Given the description of an element on the screen output the (x, y) to click on. 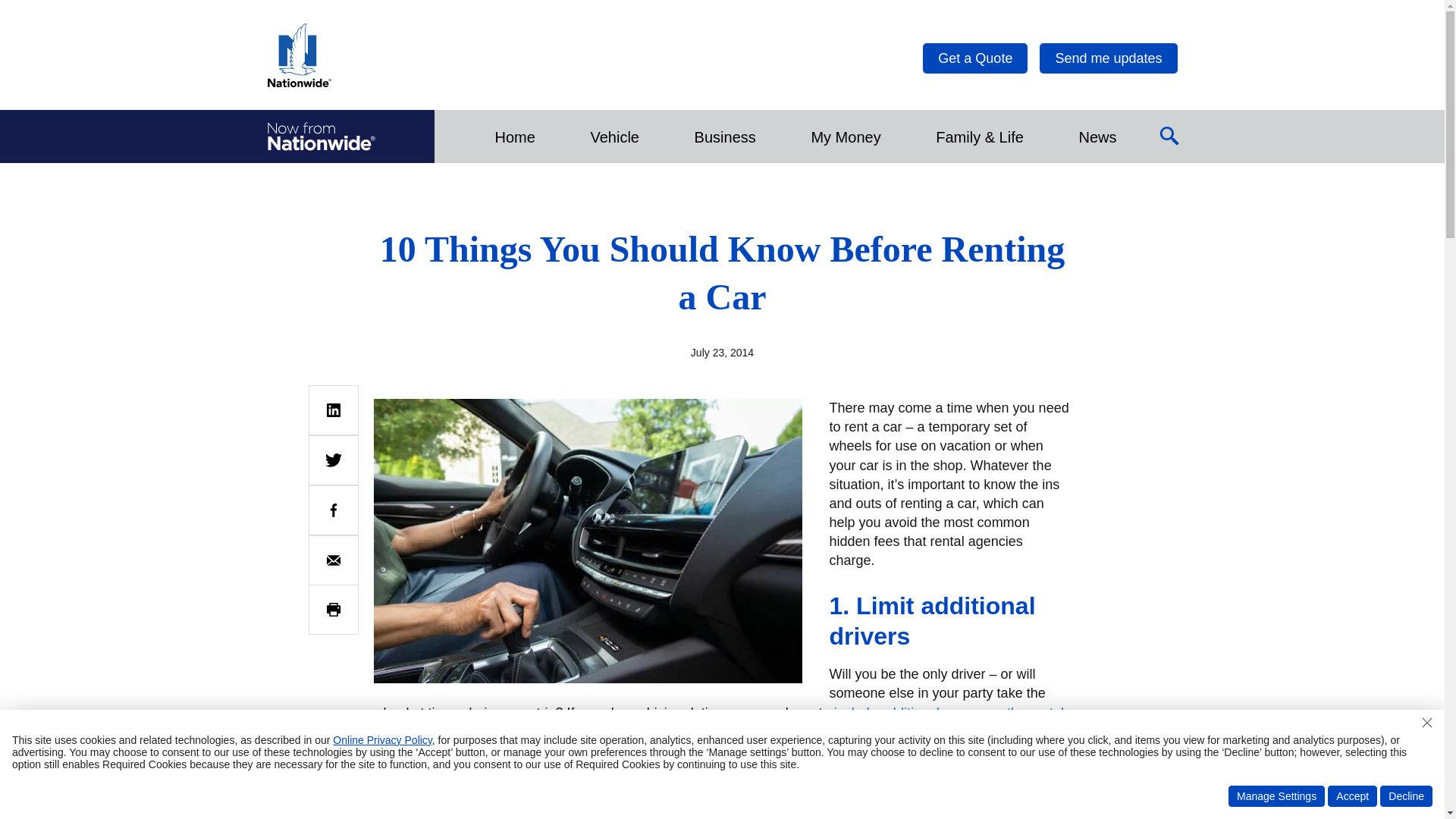
My Money (844, 135)
Vehicle (614, 135)
Get a Quote (975, 58)
Business (725, 135)
Home (514, 135)
Send me updates (1107, 58)
